Given the description of an element on the screen output the (x, y) to click on. 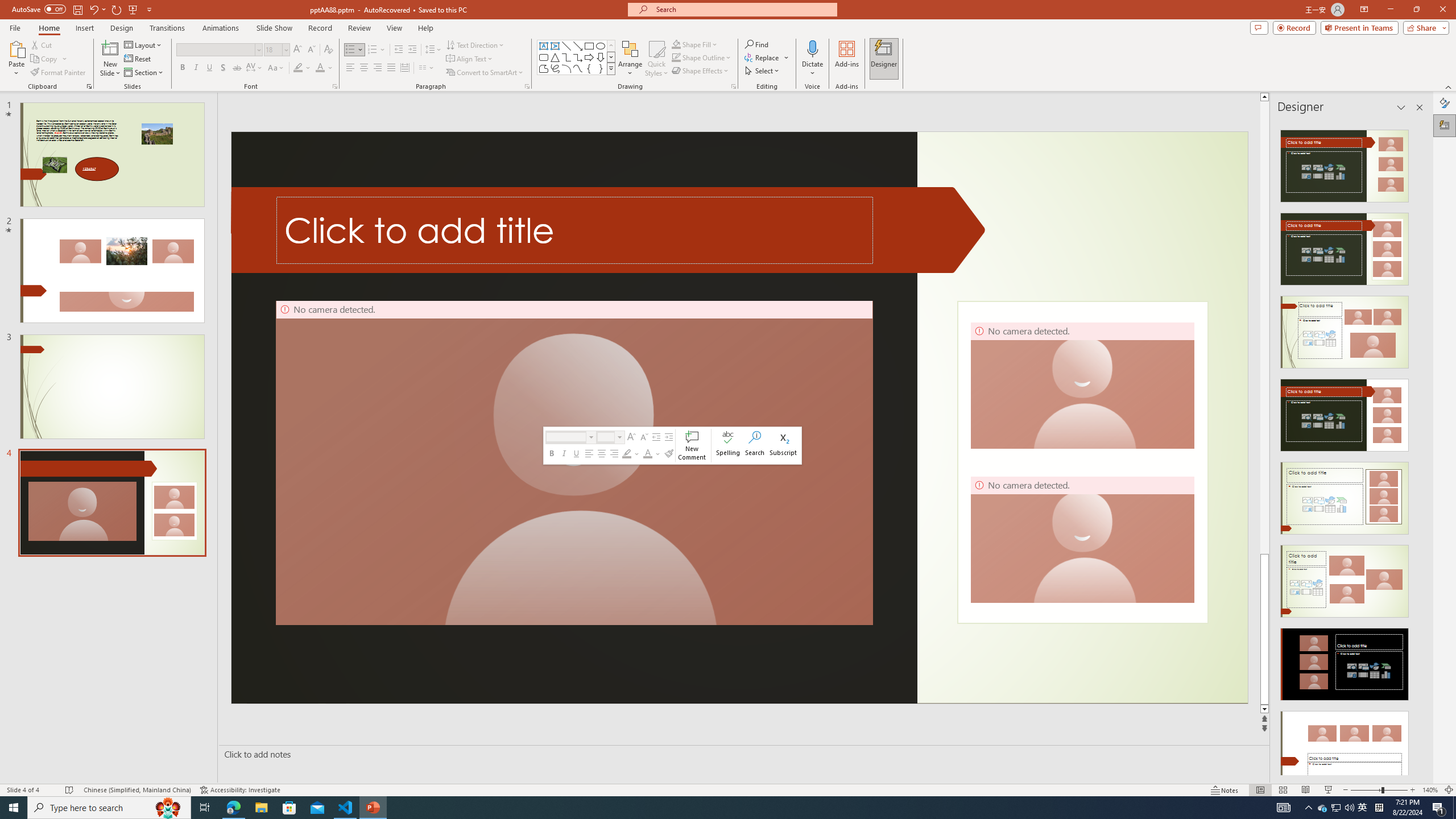
Shape Fill Aqua, Accent 2 (675, 44)
